Given the description of an element on the screen output the (x, y) to click on. 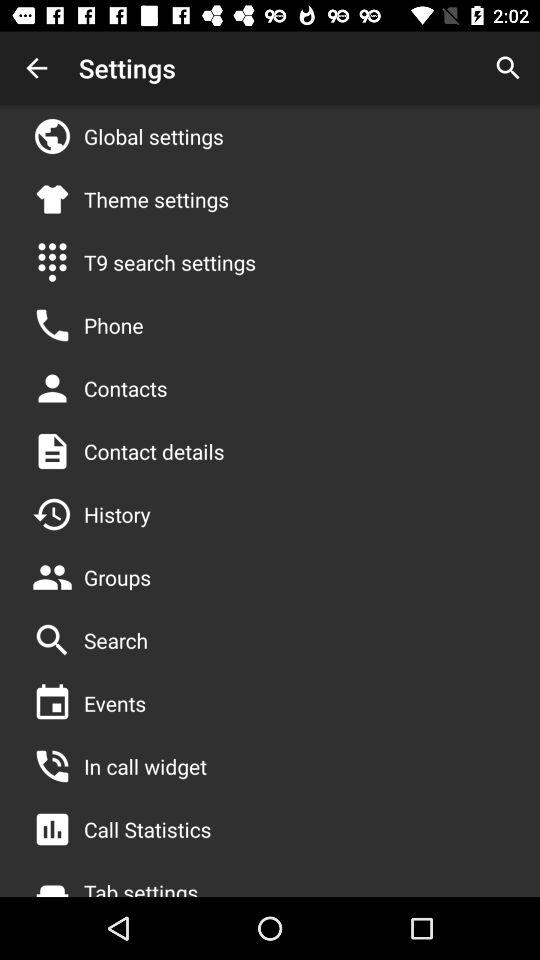
turn off phone item (113, 325)
